Given the description of an element on the screen output the (x, y) to click on. 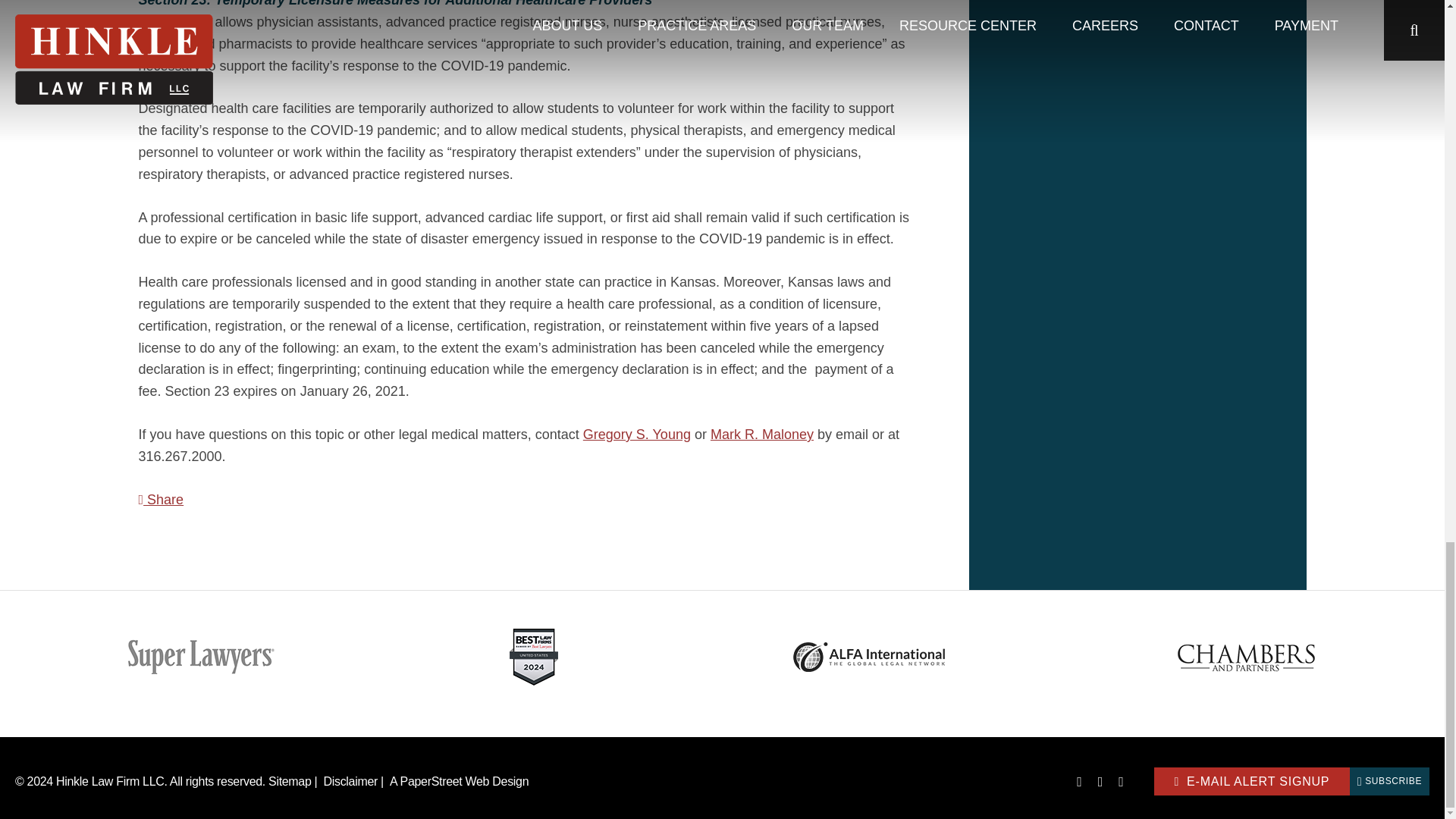
Gregory S. Young (636, 434)
Mark R. Maloney (761, 434)
Share (160, 499)
